Given the description of an element on the screen output the (x, y) to click on. 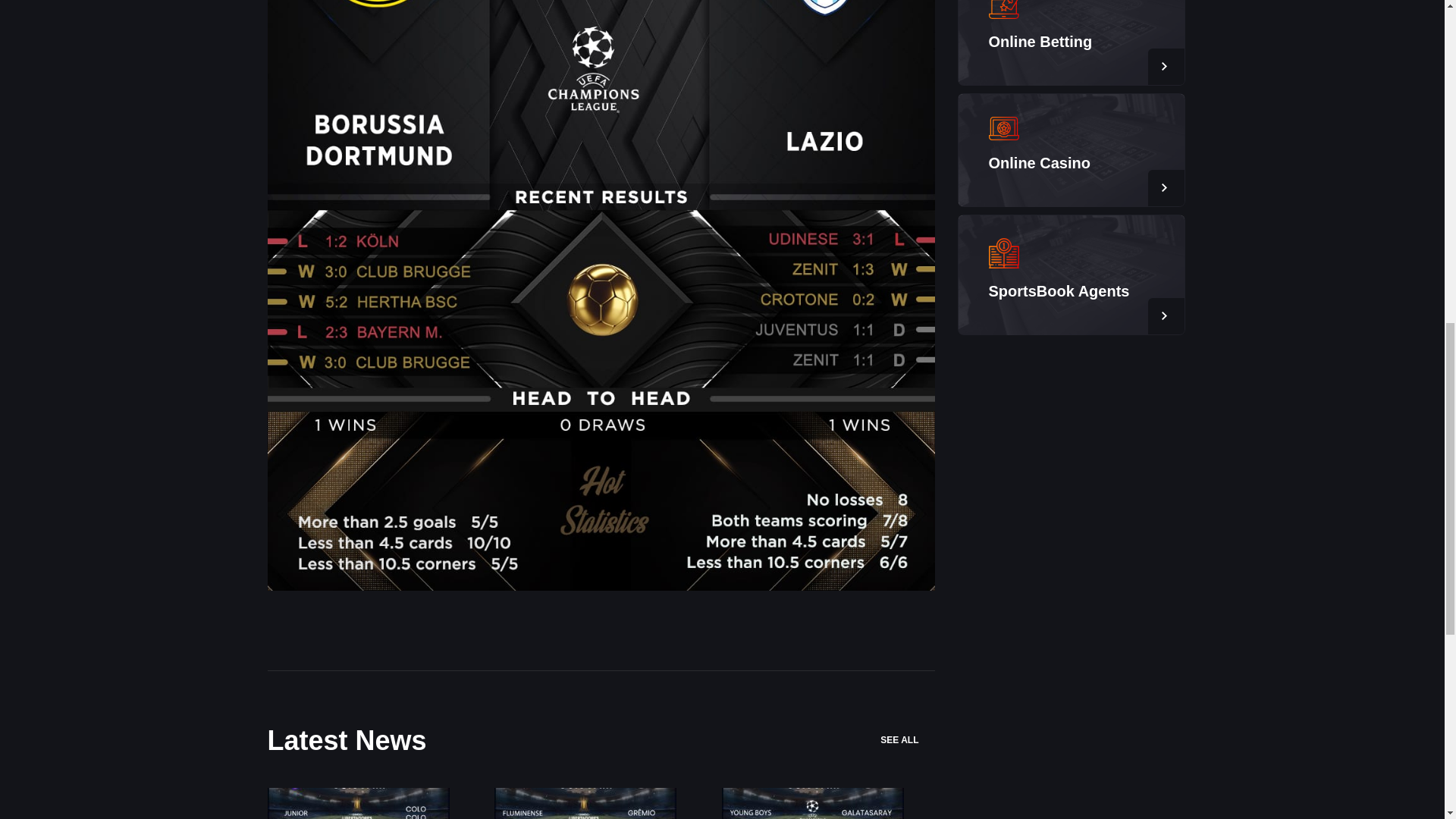
Online Casino (1039, 162)
SportsBook Agents (1058, 290)
Online Betting (1040, 41)
SEE ALL (907, 740)
